Given the description of an element on the screen output the (x, y) to click on. 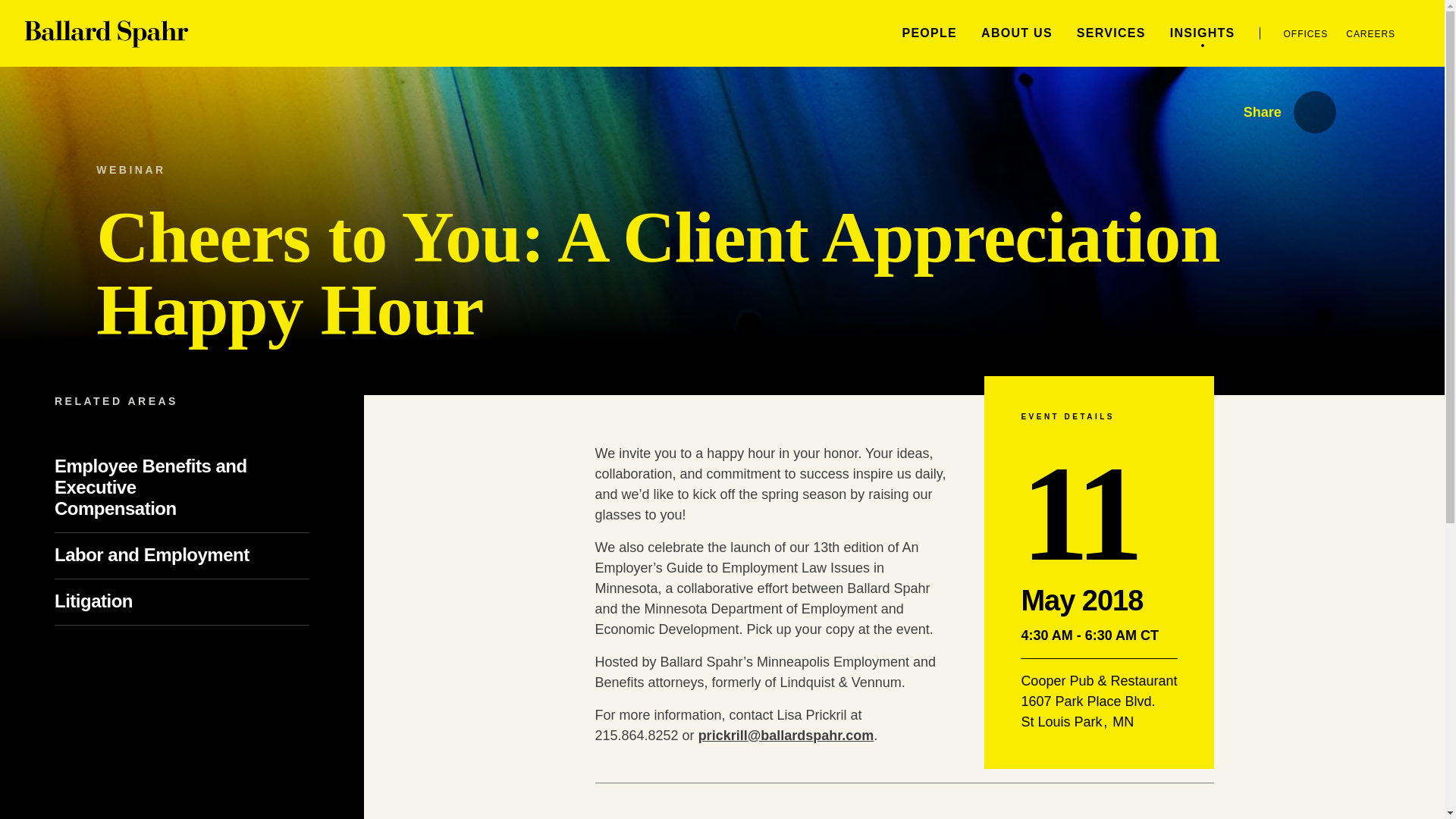
PEOPLE (928, 32)
Litigation (119, 600)
CAREERS (1369, 33)
INSIGHTS (1202, 32)
Labor and Employment (177, 554)
SERVICES (1111, 32)
Employee Benefits and Executive Compensation (151, 486)
OFFICES (1305, 33)
ABOUT US (1016, 32)
